Given the description of an element on the screen output the (x, y) to click on. 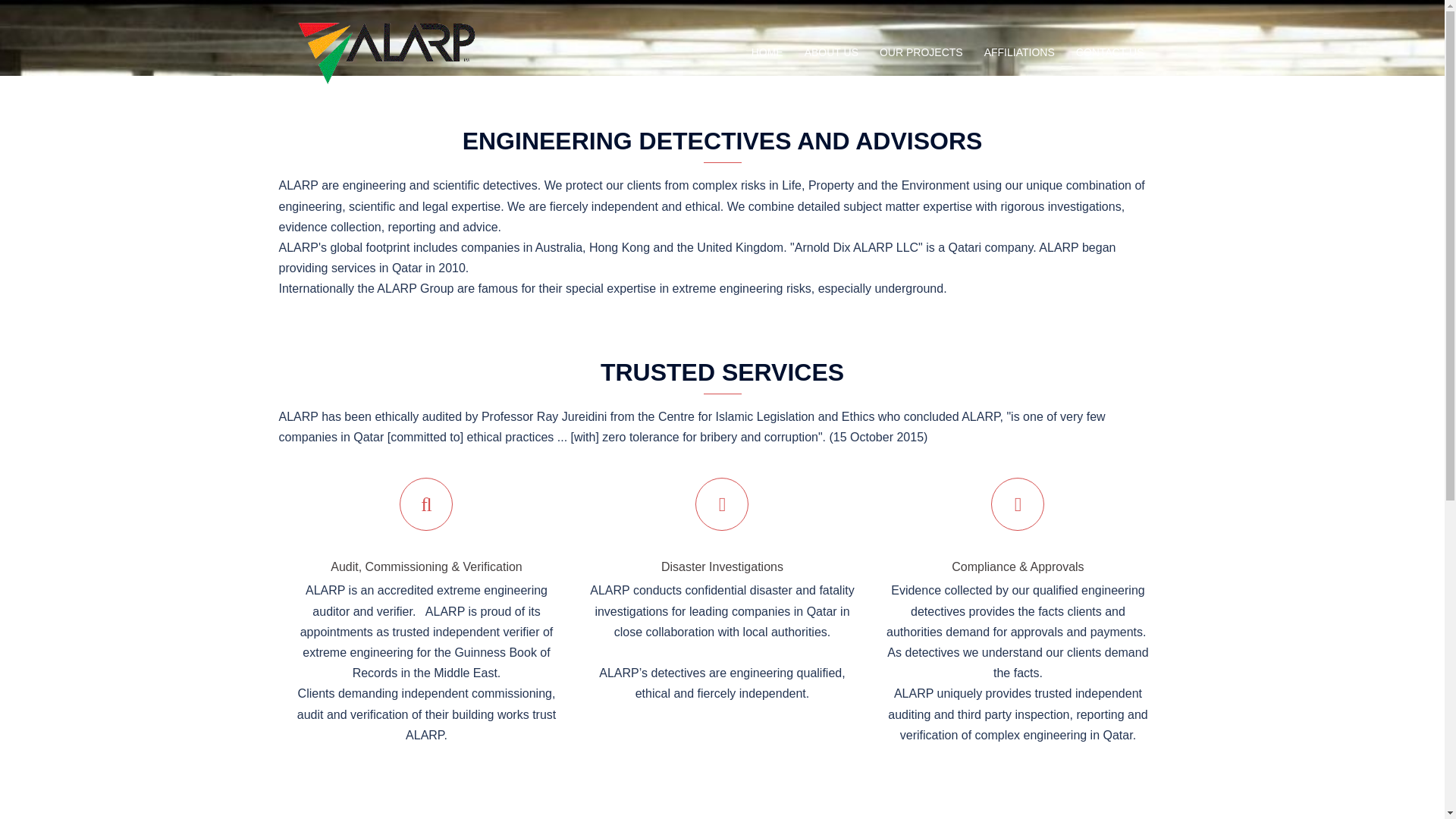
ALARP LLC QATAR (389, 51)
CONTACT US (1109, 53)
ABOUT US (832, 53)
OUR PROJECTS (920, 53)
AFFILIATIONS (1019, 53)
HOME (767, 53)
